Given the description of an element on the screen output the (x, y) to click on. 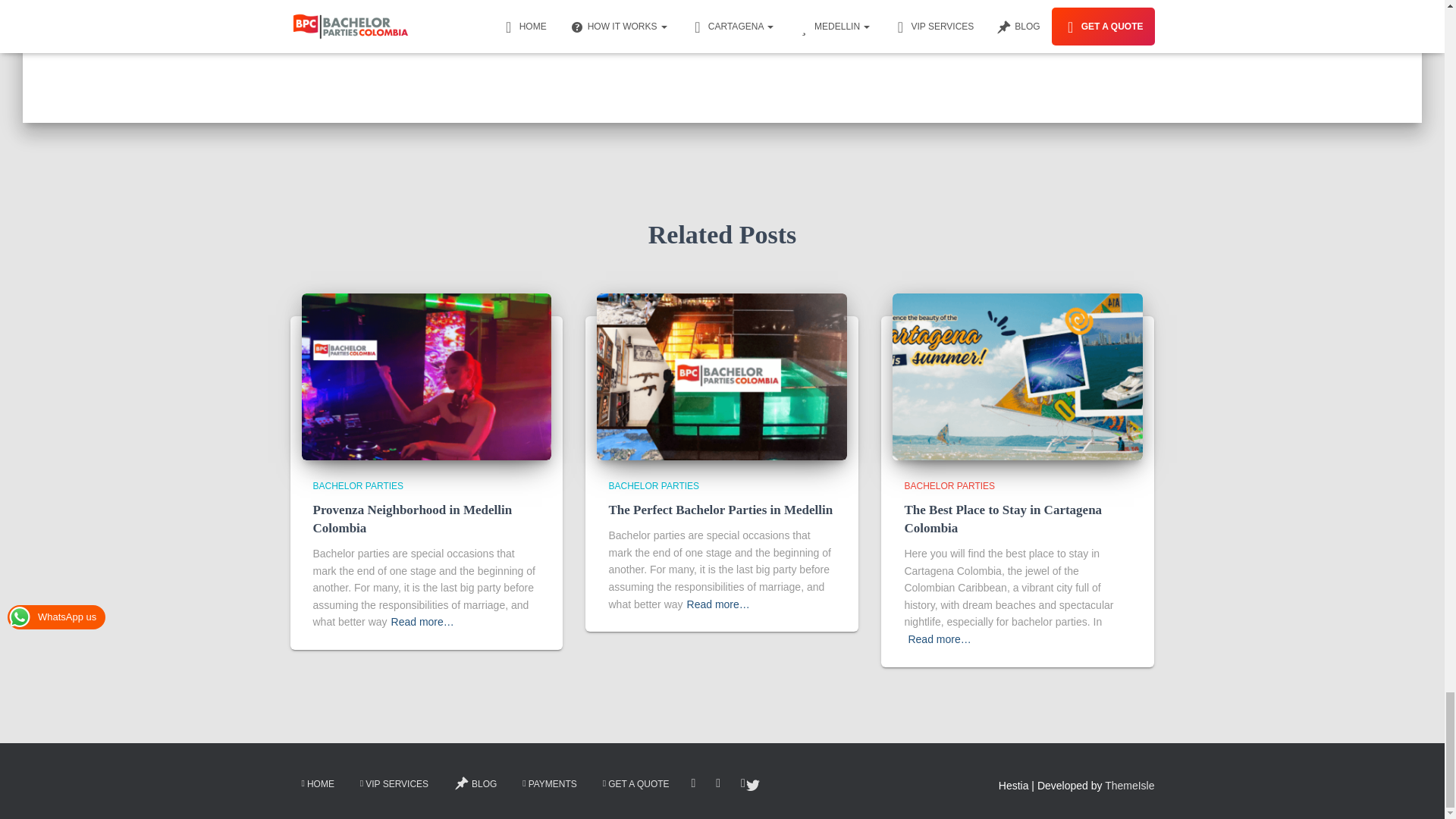
Post Comment (796, 2)
